Given the description of an element on the screen output the (x, y) to click on. 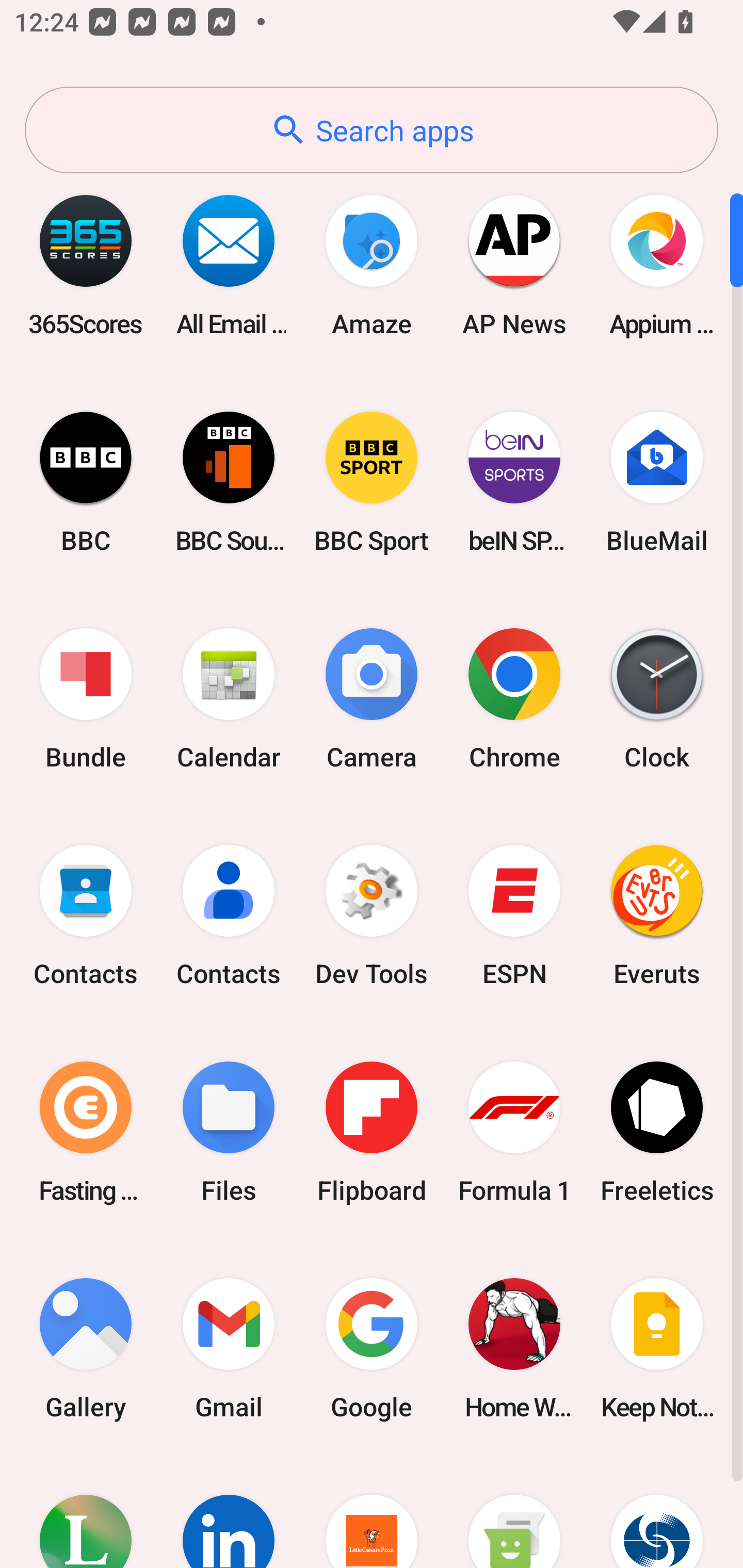
  Search apps (371, 130)
365Scores (85, 264)
All Email Connect (228, 264)
Amaze (371, 264)
AP News (514, 264)
Appium Settings (656, 264)
BBC (85, 482)
BBC Sounds (228, 482)
BBC Sport (371, 482)
beIN SPORTS (514, 482)
BlueMail (656, 482)
Bundle (85, 699)
Calendar (228, 699)
Camera (371, 699)
Chrome (514, 699)
Clock (656, 699)
Contacts (85, 915)
Contacts (228, 915)
Dev Tools (371, 915)
ESPN (514, 915)
Everuts (656, 915)
Fasting Coach (85, 1131)
Files (228, 1131)
Flipboard (371, 1131)
Formula 1 (514, 1131)
Freeletics (656, 1131)
Gallery (85, 1348)
Gmail (228, 1348)
Google (371, 1348)
Home Workout (514, 1348)
Keep Notes (656, 1348)
Lifesum (85, 1512)
LinkedIn (228, 1512)
Little Caesars Pizza (371, 1512)
Messaging (514, 1512)
MyObservatory (656, 1512)
